Given the description of an element on the screen output the (x, y) to click on. 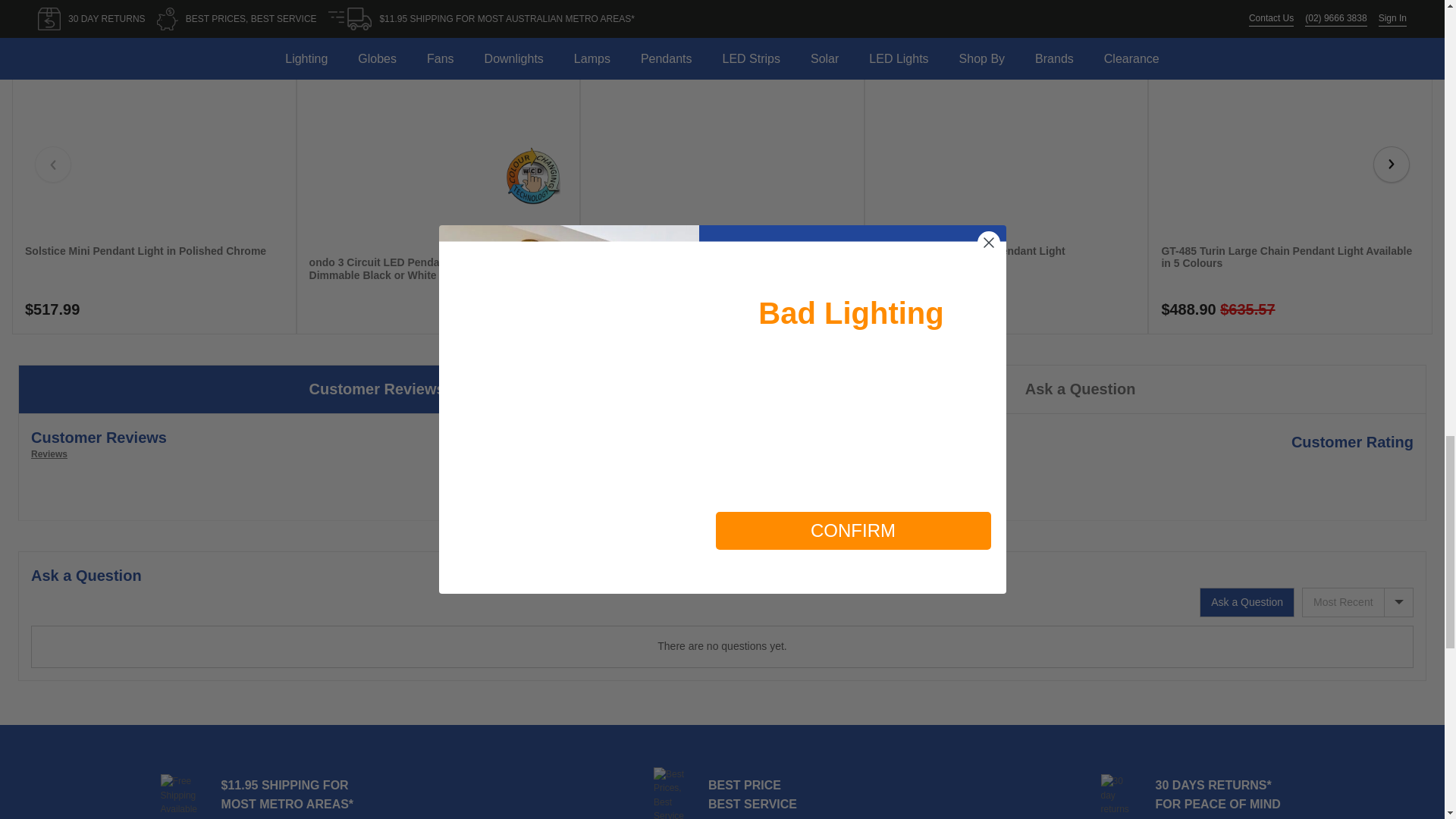
Montage Pendant Light in Brown (675, 256)
Solstice Mini Pendant Light in Polished Chrome (145, 256)
Vintage Detailed Glass Pendant Light (971, 256)
